Given the description of an element on the screen output the (x, y) to click on. 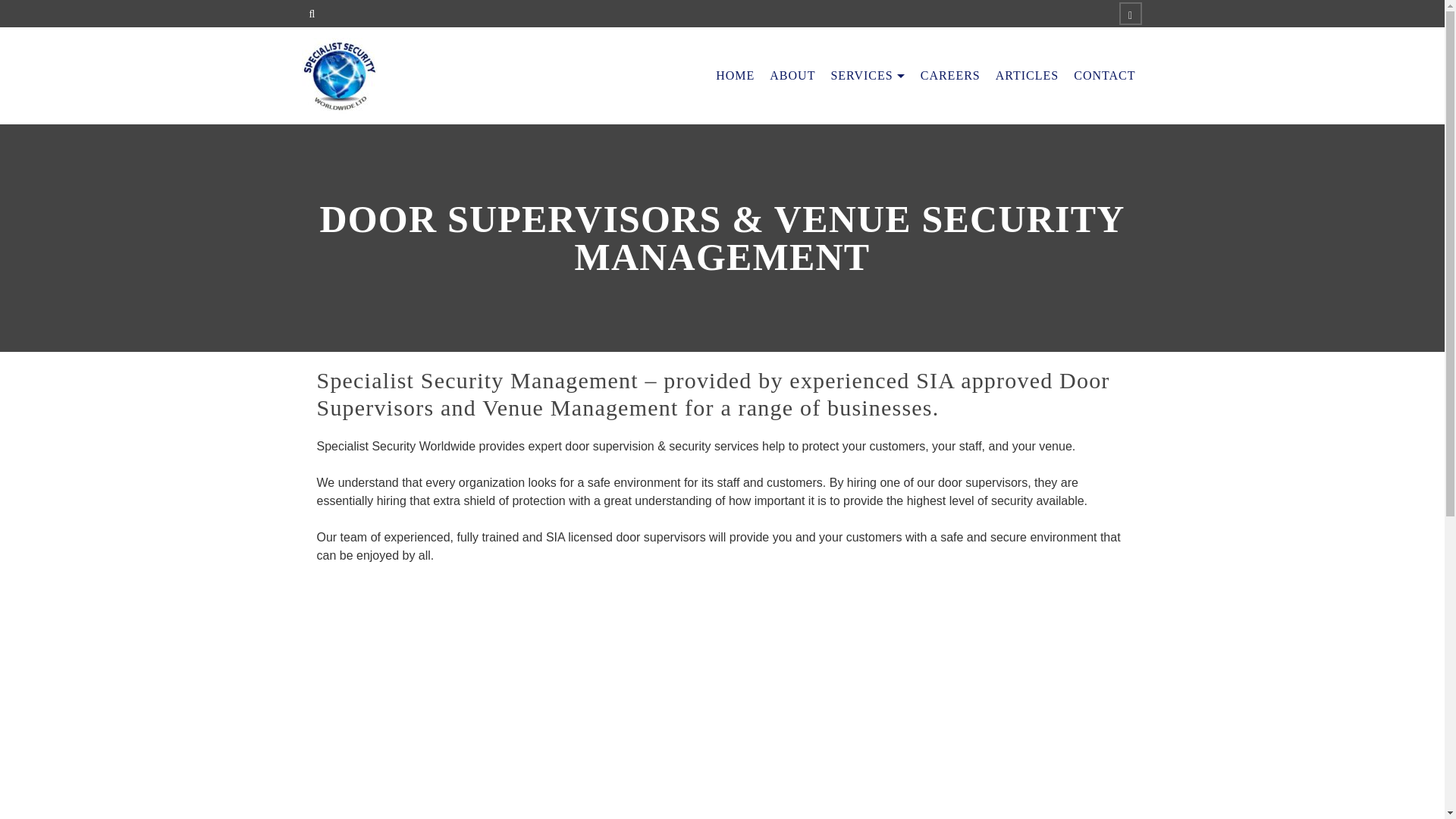
SERVICES (867, 75)
ABOUT (791, 75)
CONTACT (1103, 75)
CAREERS (950, 75)
HOME (734, 75)
ARTICLES (1026, 75)
